Given the description of an element on the screen output the (x, y) to click on. 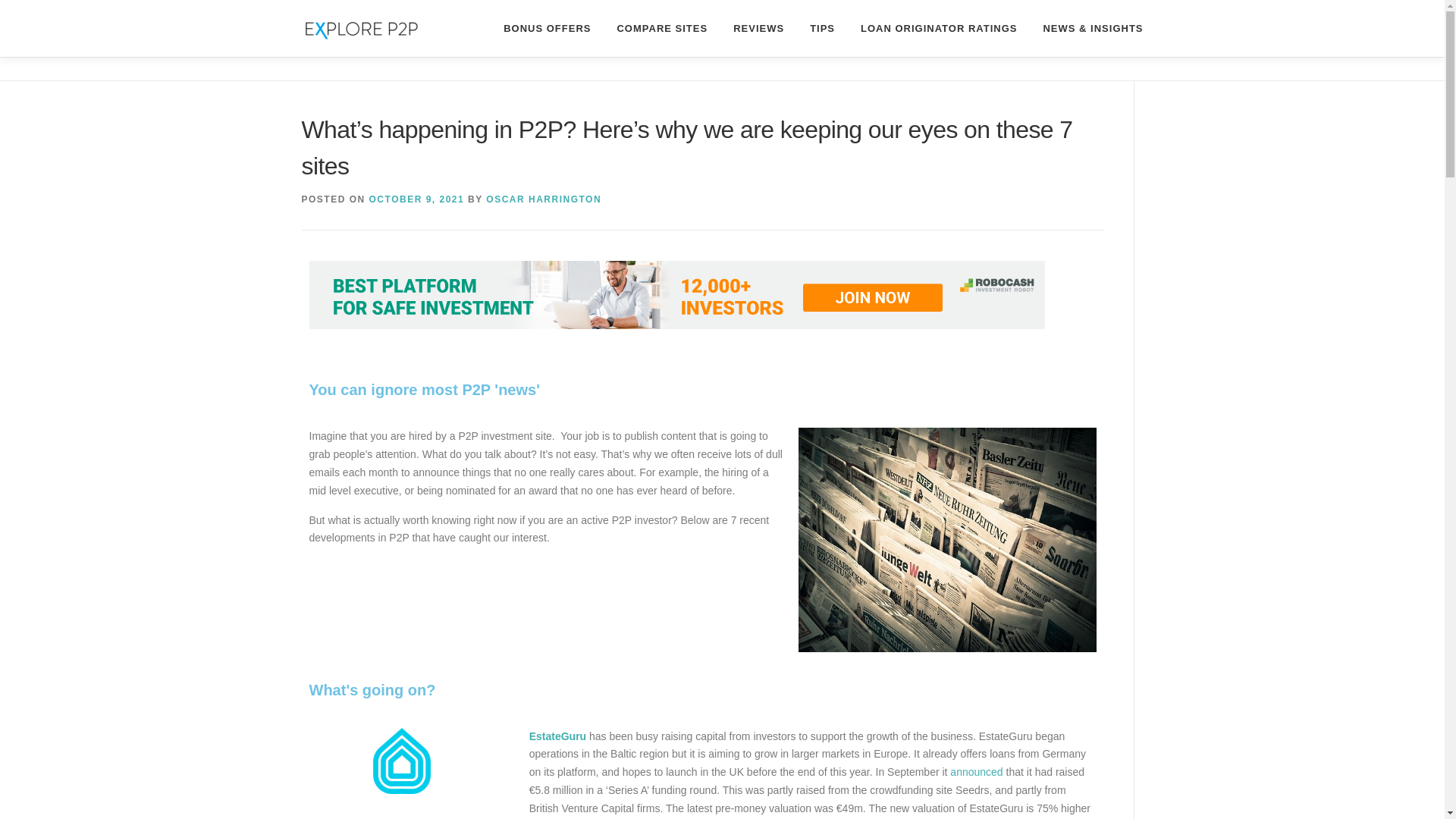
REVIEWS (758, 28)
COMPARE SITES (662, 28)
TIPS (821, 28)
OSCAR HARRINGTON (543, 199)
EstateGuru (557, 736)
BONUS OFFERS (547, 28)
LOAN ORIGINATOR RATINGS (938, 28)
announced (976, 771)
OCTOBER 9, 2021 (416, 199)
